Given the description of an element on the screen output the (x, y) to click on. 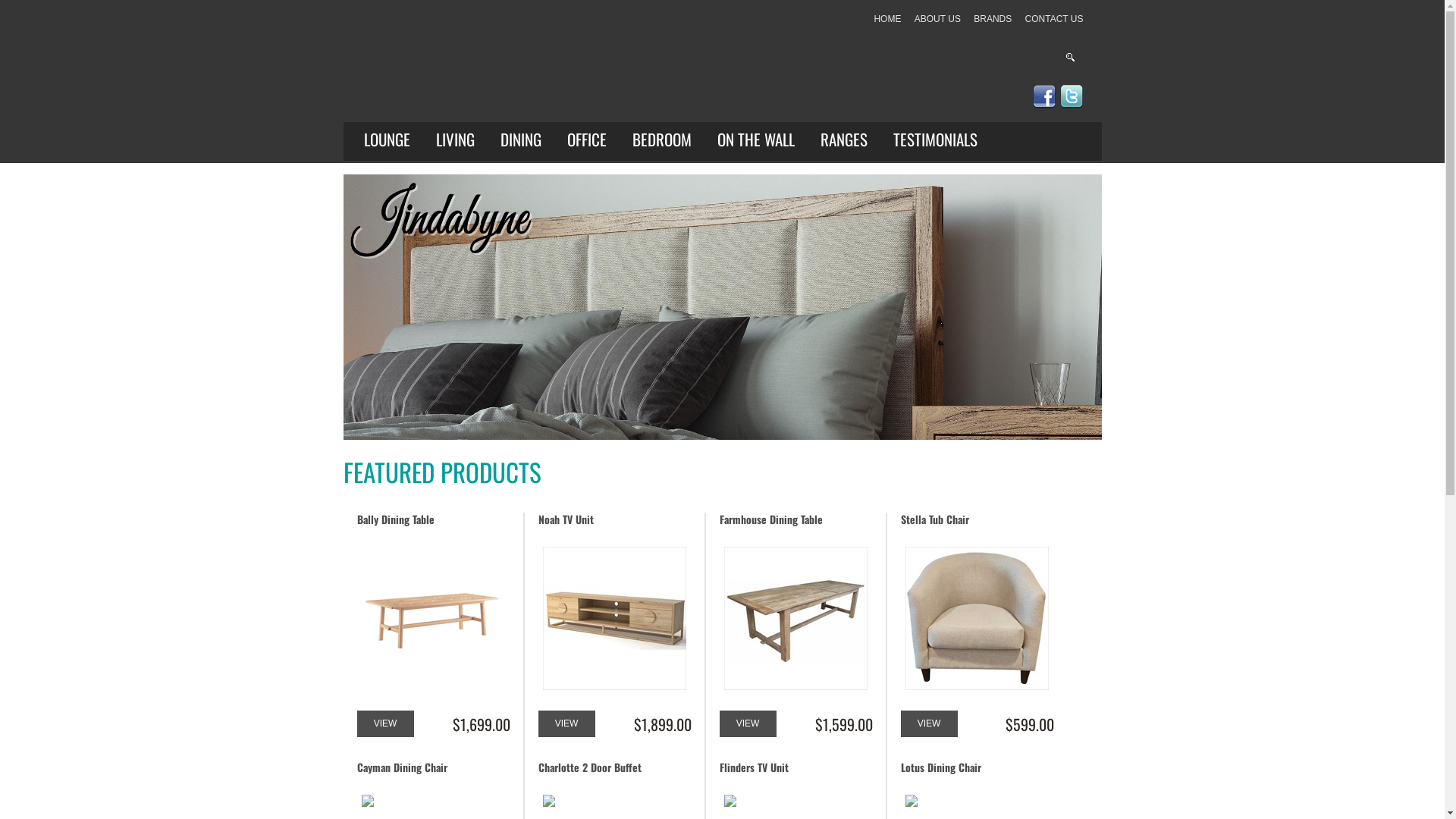
BEDROOM Element type: text (661, 139)
RANGES Element type: text (843, 139)
VIEW Element type: text (384, 723)
CONTACT US Element type: text (1054, 18)
ON THE WALL Element type: text (755, 139)
HOME Element type: text (886, 18)
LOUNGE Element type: text (386, 139)
OFFICE Element type: text (586, 139)
LIVING Element type: text (454, 139)
ABOUT US Element type: text (937, 18)
VIEW Element type: text (566, 723)
TESTIMONIALS Element type: text (935, 139)
DINING Element type: text (520, 139)
VIEW Element type: text (928, 723)
VIEW Element type: text (746, 723)
Instyle Living FURNITURE DECOR HOMEWARES Element type: text (559, 66)
BRANDS Element type: text (992, 18)
